Given the description of an element on the screen output the (x, y) to click on. 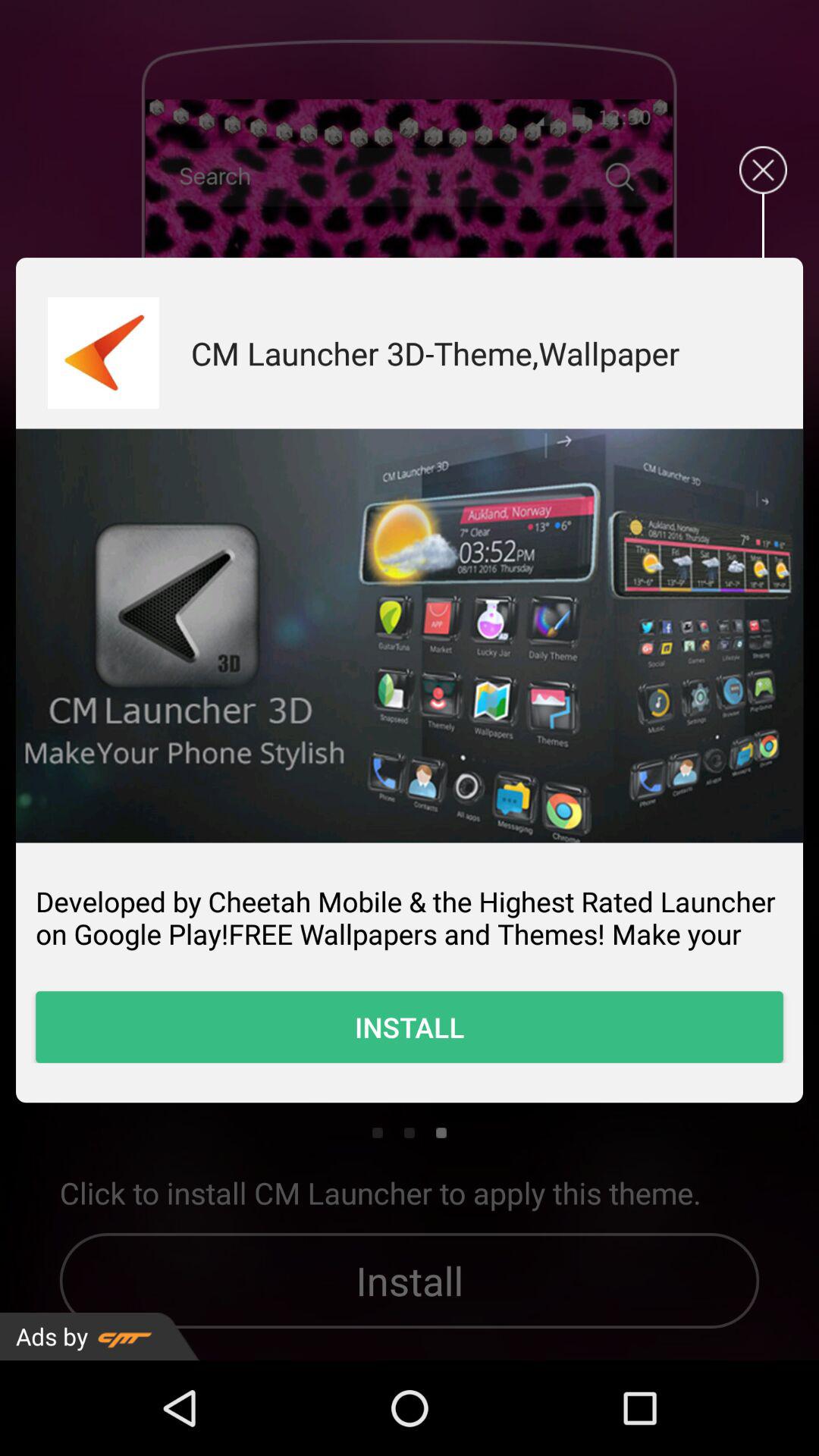
close advertisement (763, 169)
